Given the description of an element on the screen output the (x, y) to click on. 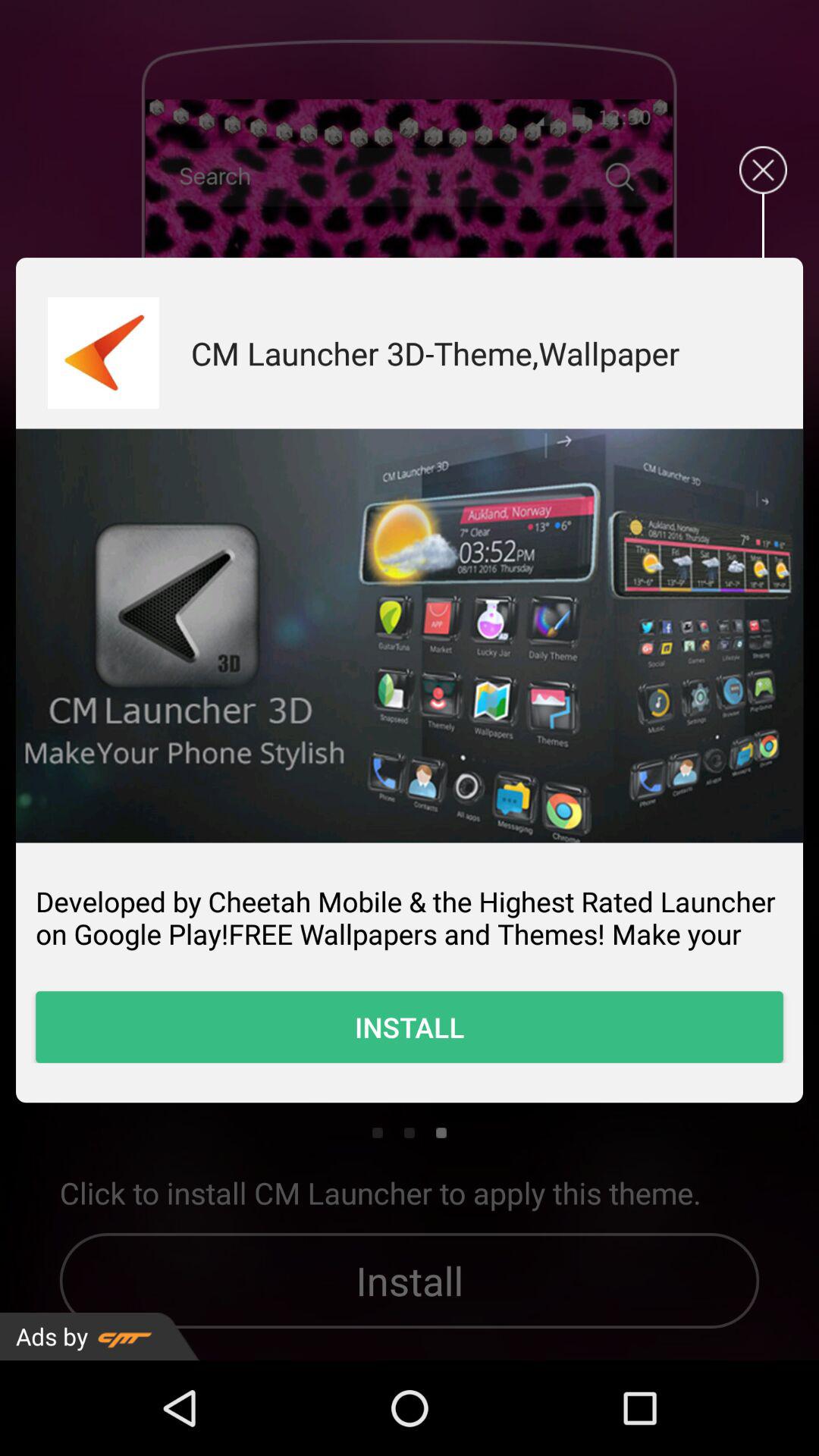
close advertisement (763, 169)
